Given the description of an element on the screen output the (x, y) to click on. 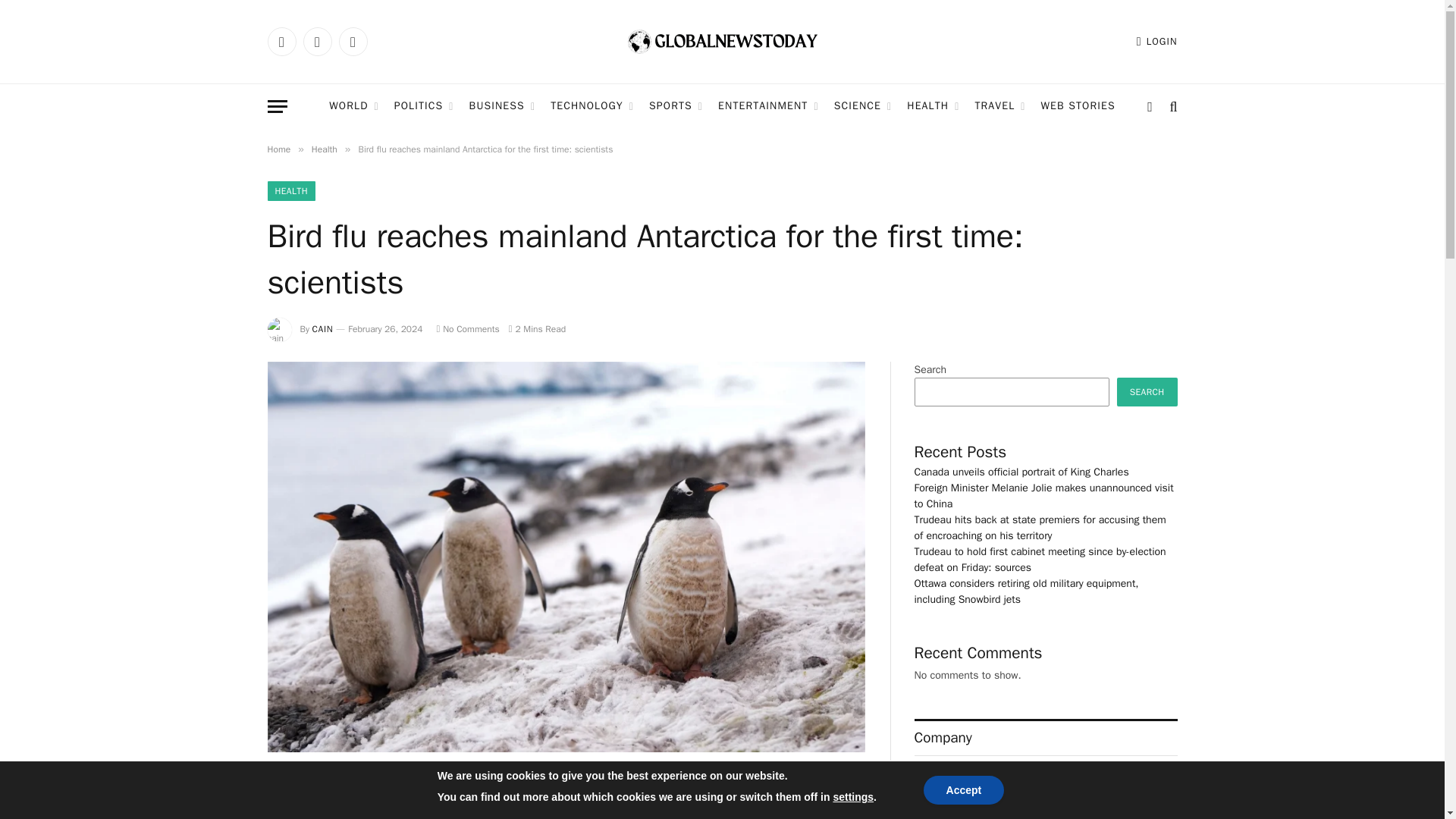
Facebook (280, 41)
GlobalNewsToday (721, 41)
WORLD (353, 106)
POLITICS (424, 106)
Instagram (351, 41)
LOGIN (1157, 41)
